Given the description of an element on the screen output the (x, y) to click on. 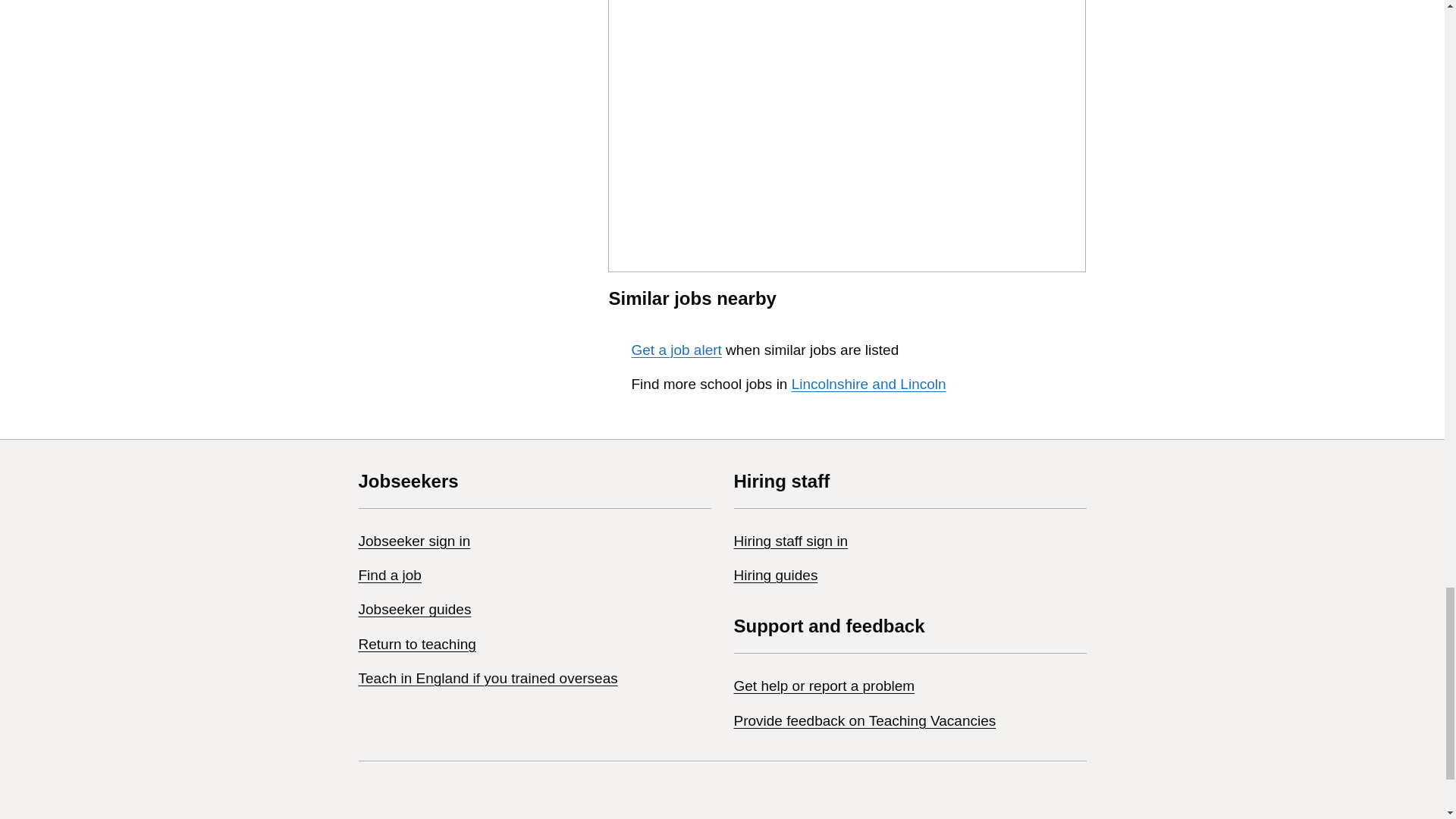
Get a job alert (675, 349)
Provide feedback on Teaching Vacancies (864, 720)
Get help or report a problem (824, 685)
Teach in England if you trained overseas (487, 678)
Jobseeker guides (414, 609)
Return to teaching (417, 643)
Find a job (389, 575)
Lincolnshire and Lincoln (869, 383)
Hiring staff sign in (790, 540)
Hiring guides (775, 575)
